Given the description of an element on the screen output the (x, y) to click on. 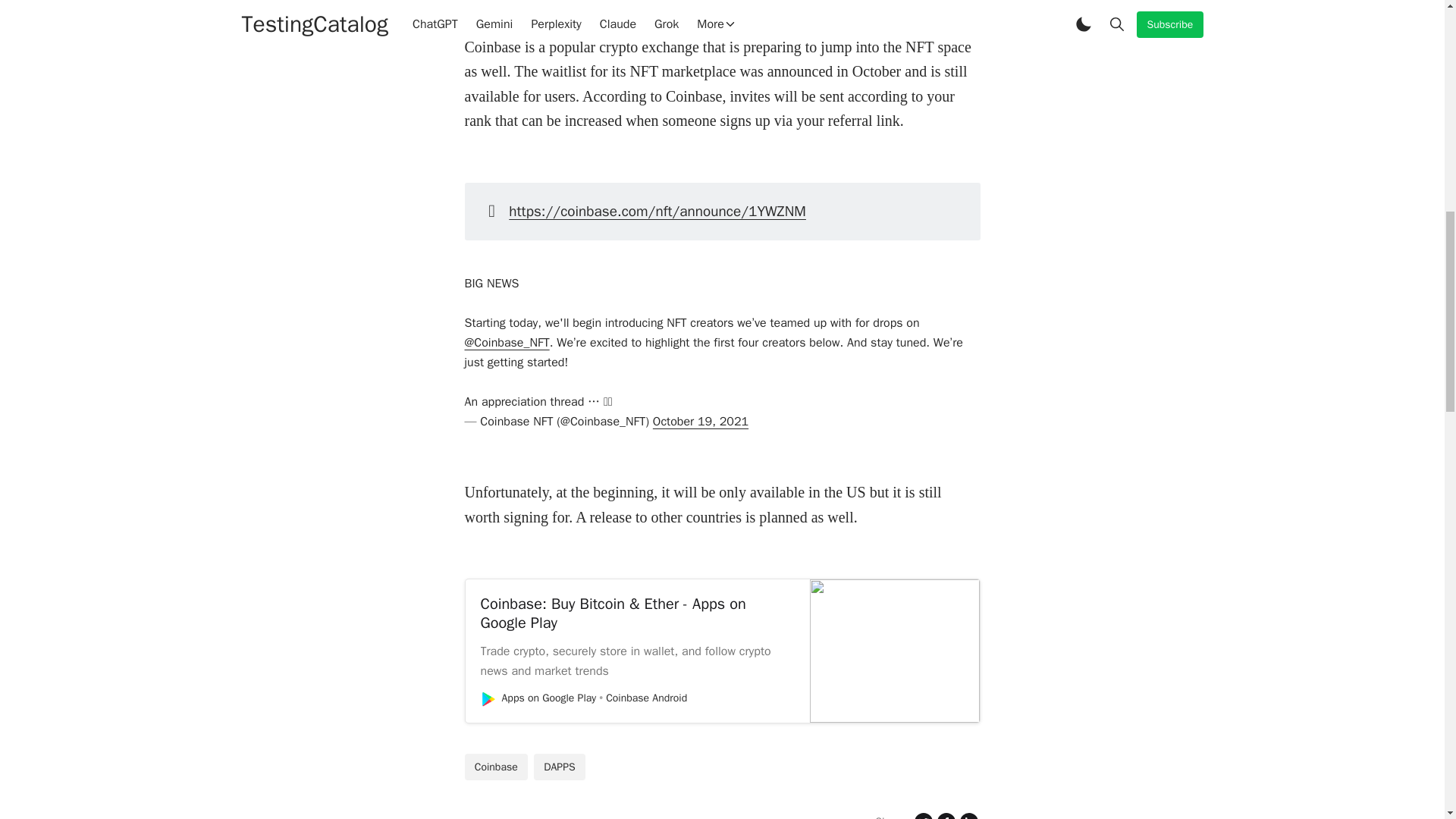
Share on Facebook (945, 814)
October 19, 2021 (700, 421)
Share on Twitter (922, 814)
DAPPS (559, 766)
Share on Linkedin (967, 814)
Coinbase (495, 766)
